Given the description of an element on the screen output the (x, y) to click on. 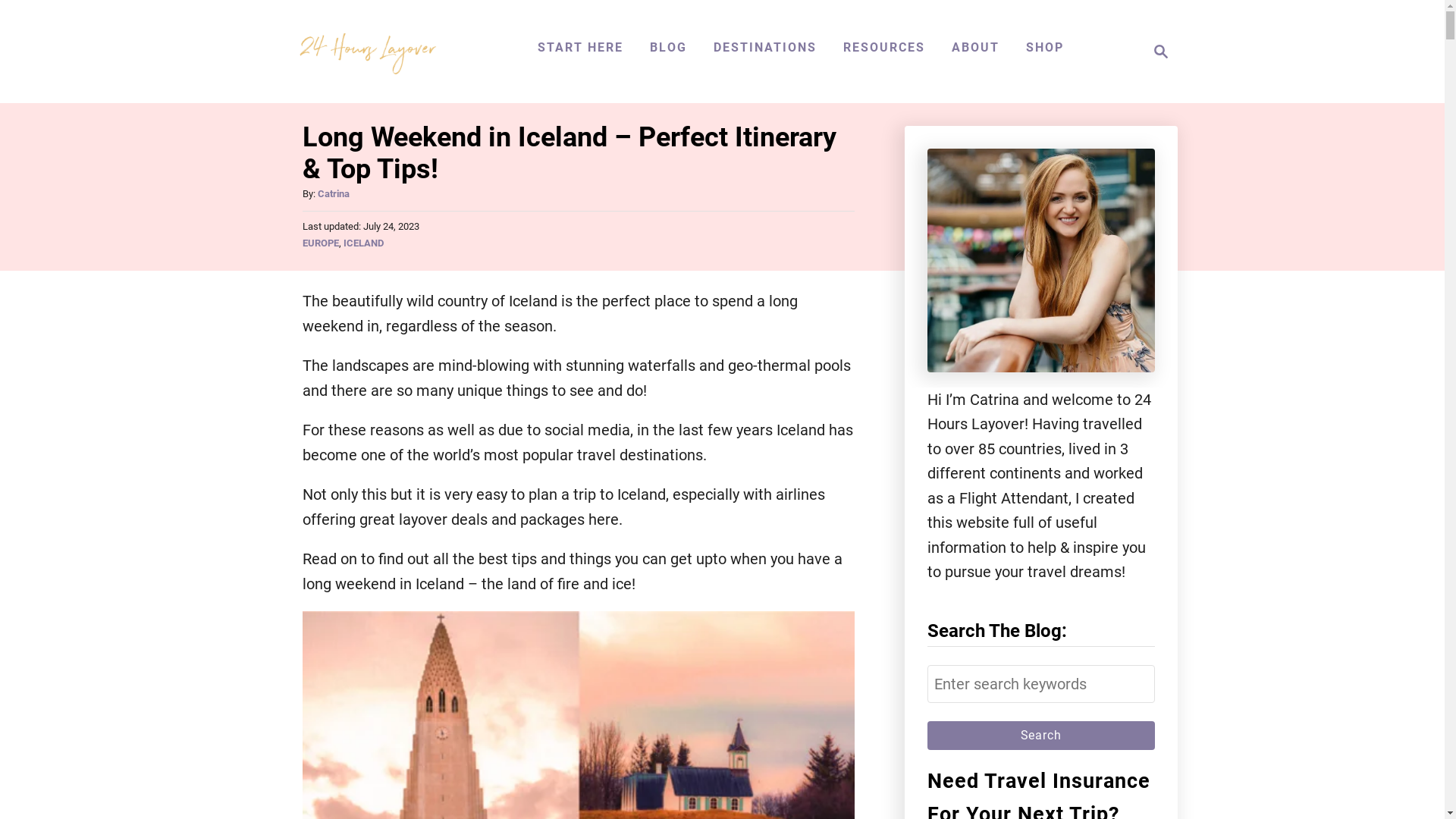
Search for: Element type: hover (1040, 684)
BLOG Element type: text (667, 47)
EUROPE Element type: text (319, 242)
24 Hours Layover Element type: hover (367, 50)
ABOUT Element type: text (974, 47)
RESOURCES Element type: text (883, 47)
DESTINATIONS Element type: text (764, 47)
ICELAND Element type: text (362, 242)
SHOP Element type: text (1043, 47)
Search Element type: text (1040, 735)
START HERE Element type: text (579, 47)
Search
Magnifying Glass Element type: text (1155, 51)
Catrina Element type: text (332, 193)
